Given the description of an element on the screen output the (x, y) to click on. 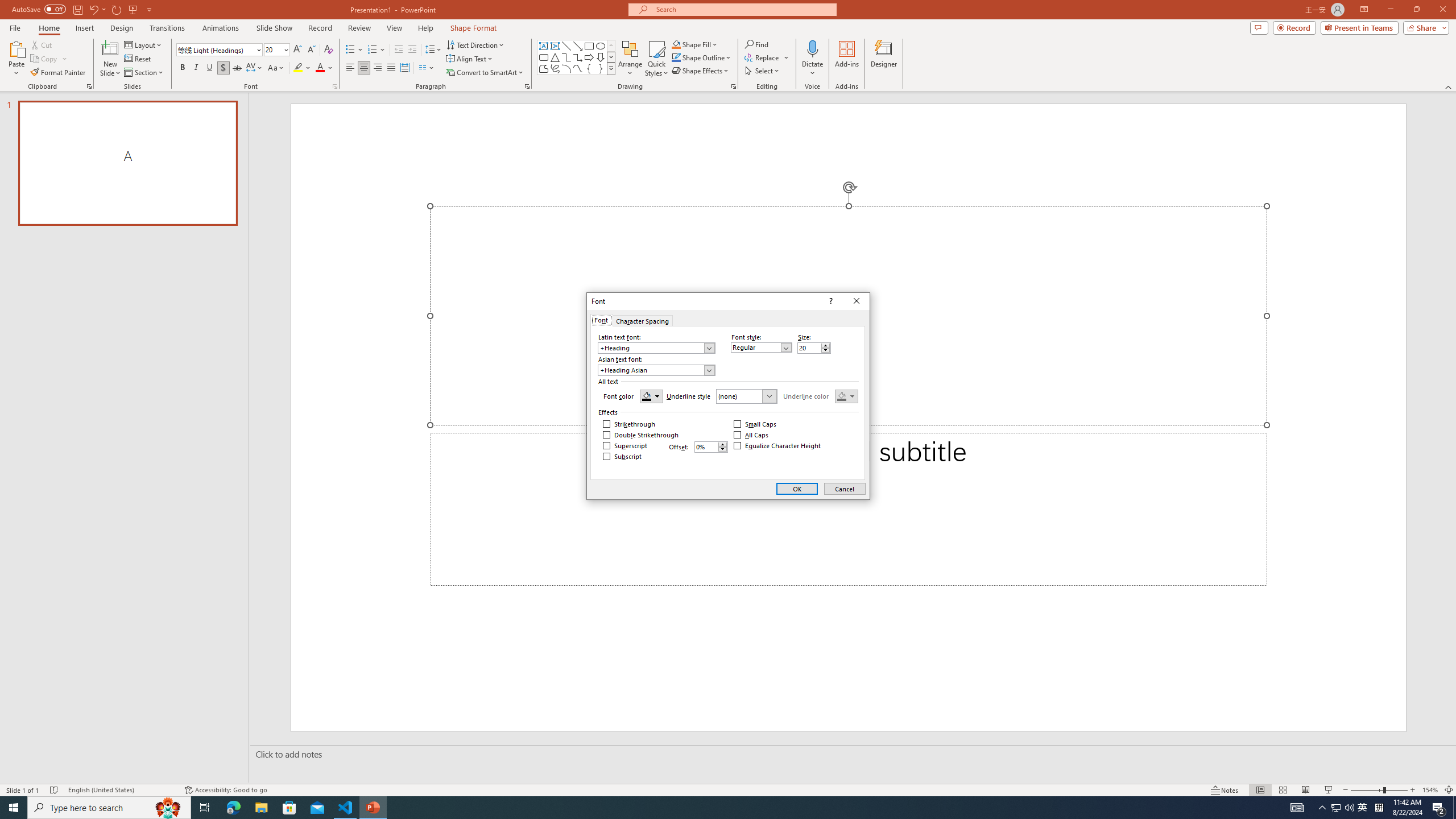
Double Strikethrough (640, 434)
OK (797, 488)
